Given the description of an element on the screen output the (x, y) to click on. 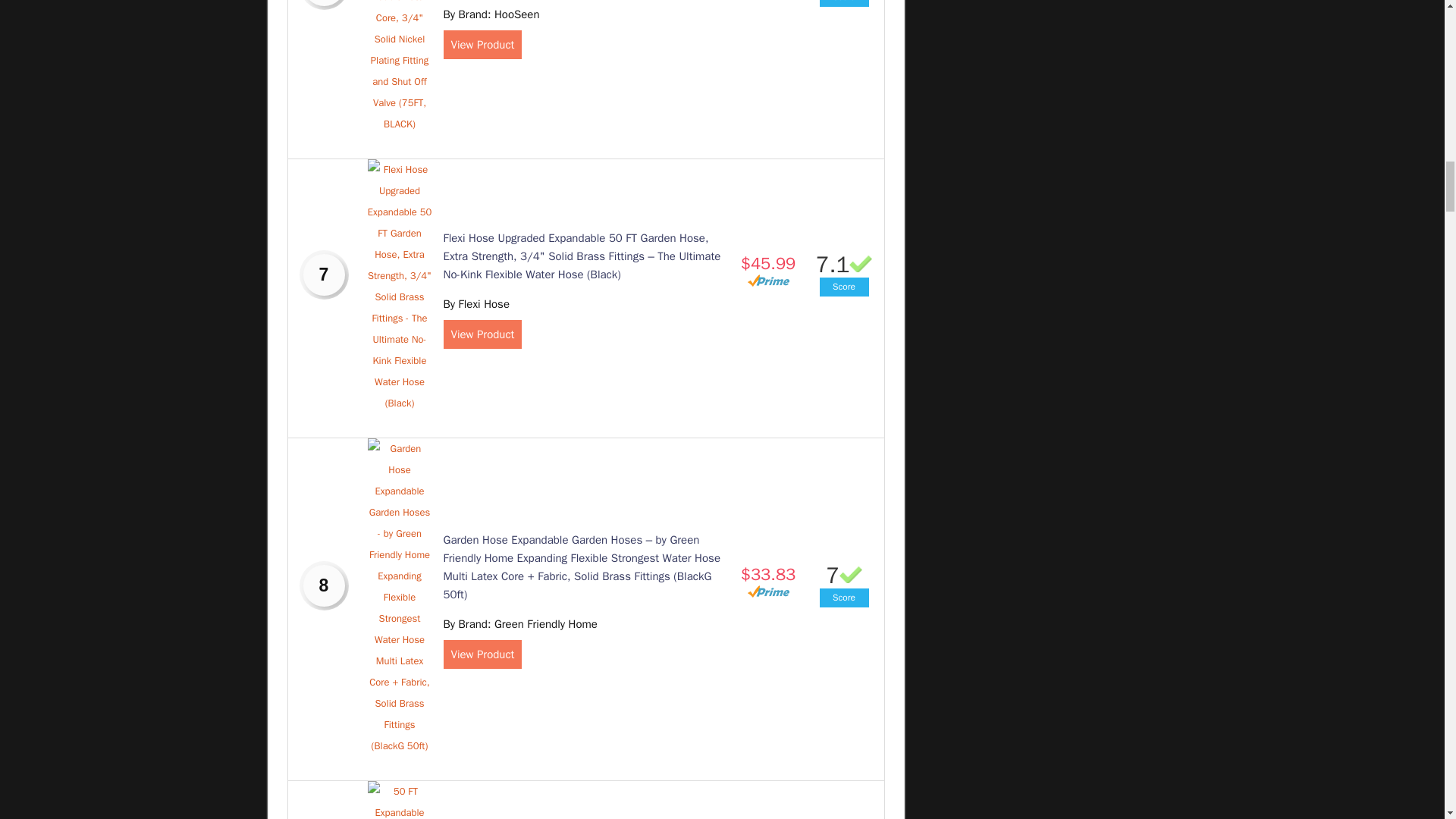
By Flexi Hose (475, 304)
View Product (481, 44)
By Brand: HooSeen (490, 14)
View Product (481, 334)
